Given the description of an element on the screen output the (x, y) to click on. 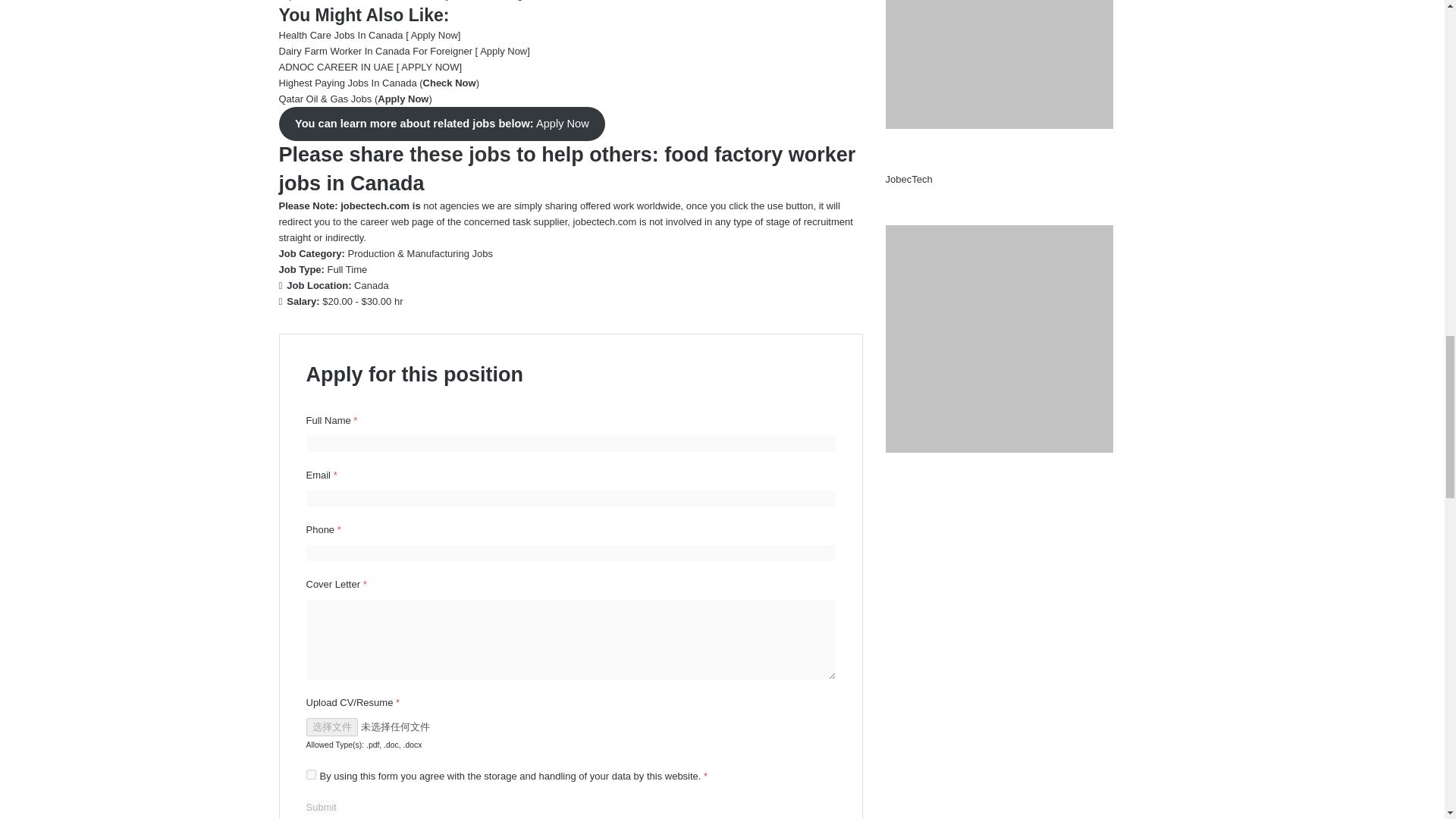
yes (310, 774)
these jobs (460, 154)
Apply Now (503, 50)
Apply Now (402, 98)
APPLY NOW (429, 66)
Submit (320, 806)
Submit (320, 806)
You can learn more about related jobs below: Apply Now (442, 123)
Check Now (449, 82)
Apply Now (434, 34)
Canada (370, 285)
Full Time (347, 269)
